Given the description of an element on the screen output the (x, y) to click on. 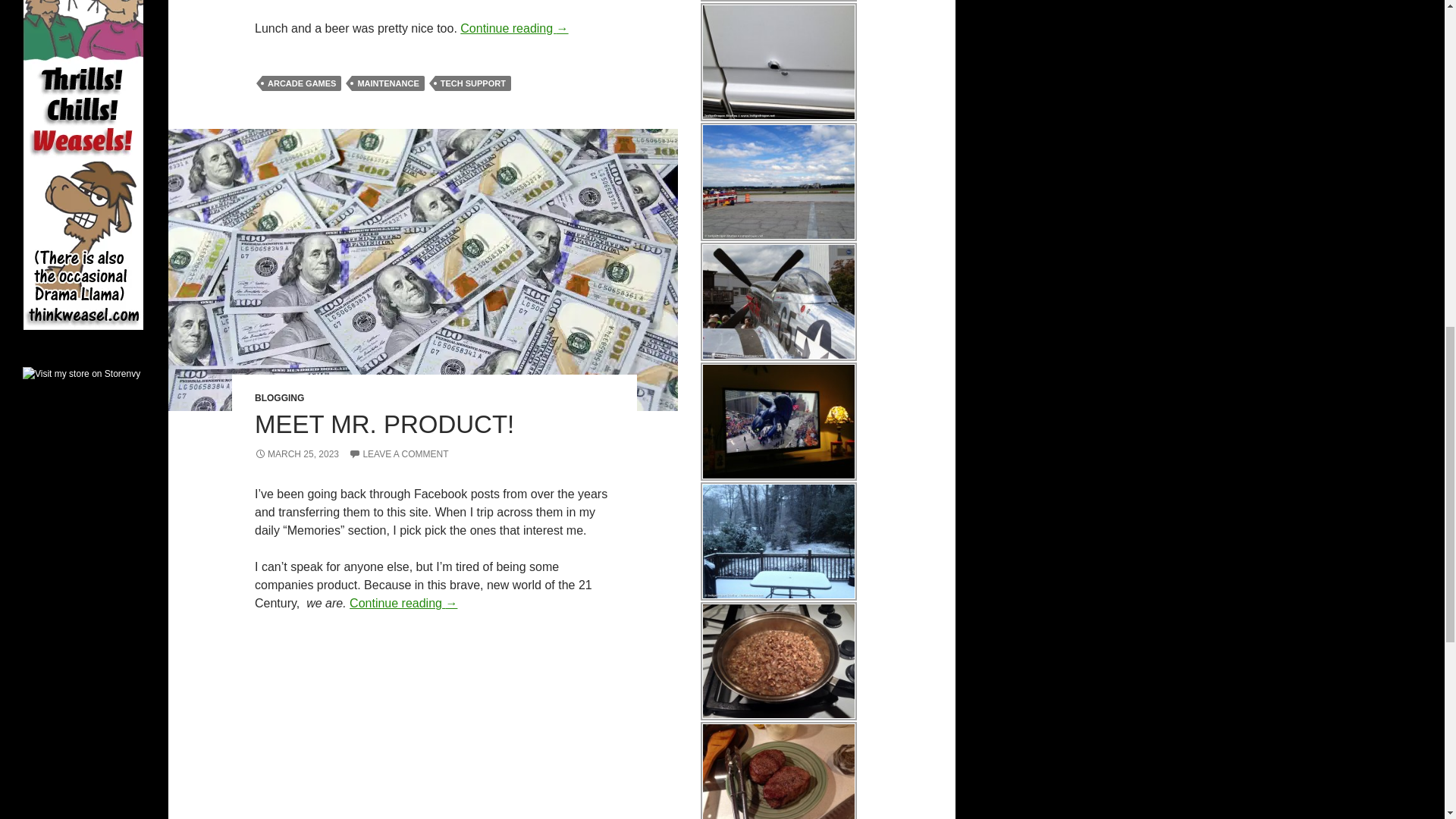
Unexpected Remodel (778, 62)
LEAVE A COMMENT (398, 453)
ARCADE GAMES (301, 83)
MAINTENANCE (387, 83)
BLOGGING (279, 398)
MARCH 25, 2023 (296, 453)
MEET MR. PRODUCT! (383, 424)
TECH SUPPORT (473, 83)
